Given the description of an element on the screen output the (x, y) to click on. 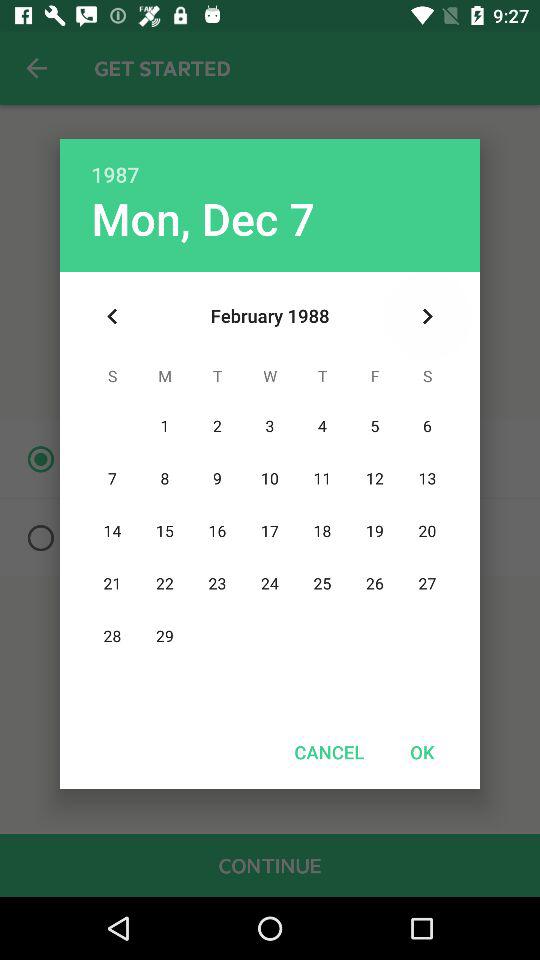
tap the item to the left of the ok (329, 751)
